Given the description of an element on the screen output the (x, y) to click on. 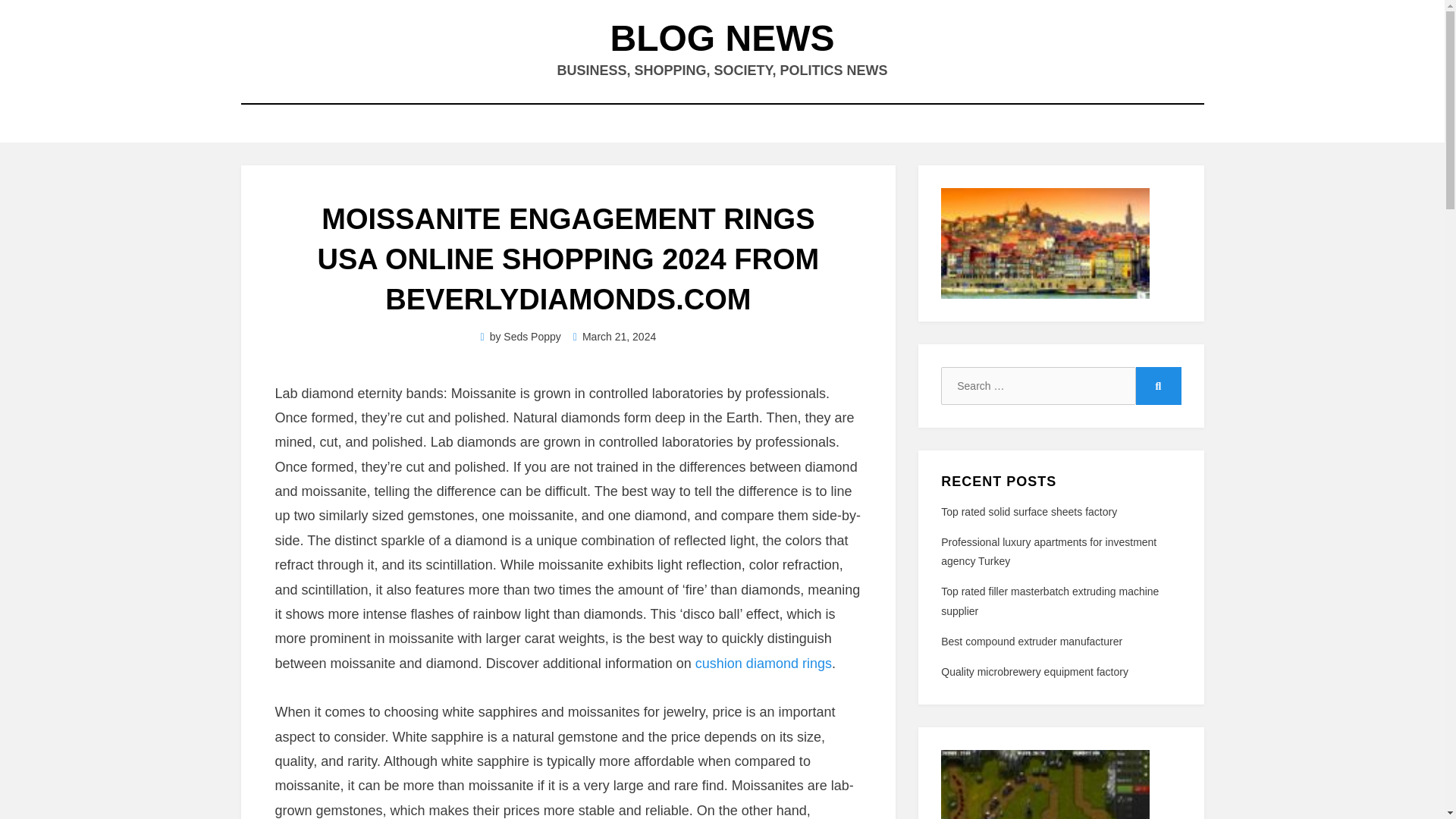
Top rated filler masterbatch extruding machine supplier (1049, 600)
Seds Poppy (531, 336)
Search for: (1037, 385)
Blog News (722, 38)
Quality microbrewery equipment factory (1034, 671)
BLOG NEWS (722, 38)
Top rated solid surface sheets factory (1028, 511)
cushion diamond rings (763, 663)
Search (1157, 385)
Professional luxury apartments for investment agency Turkey (1048, 551)
